Given the description of an element on the screen output the (x, y) to click on. 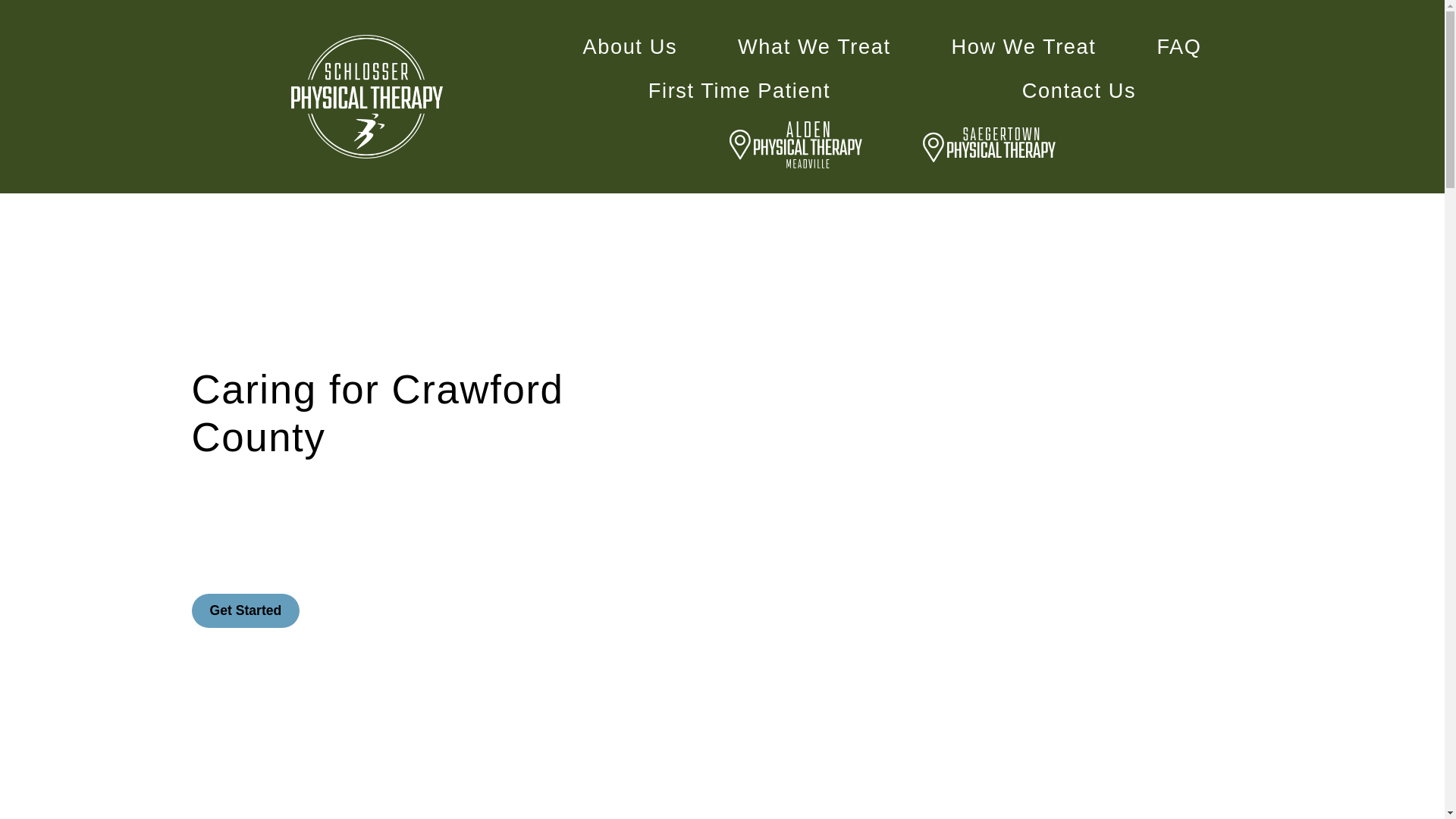
About Us (629, 47)
Get Started (244, 610)
How We Treat (1023, 47)
FAQ (1178, 47)
First Time Patient (738, 90)
What We Treat (814, 47)
Contact Us (1078, 90)
